Given the description of an element on the screen output the (x, y) to click on. 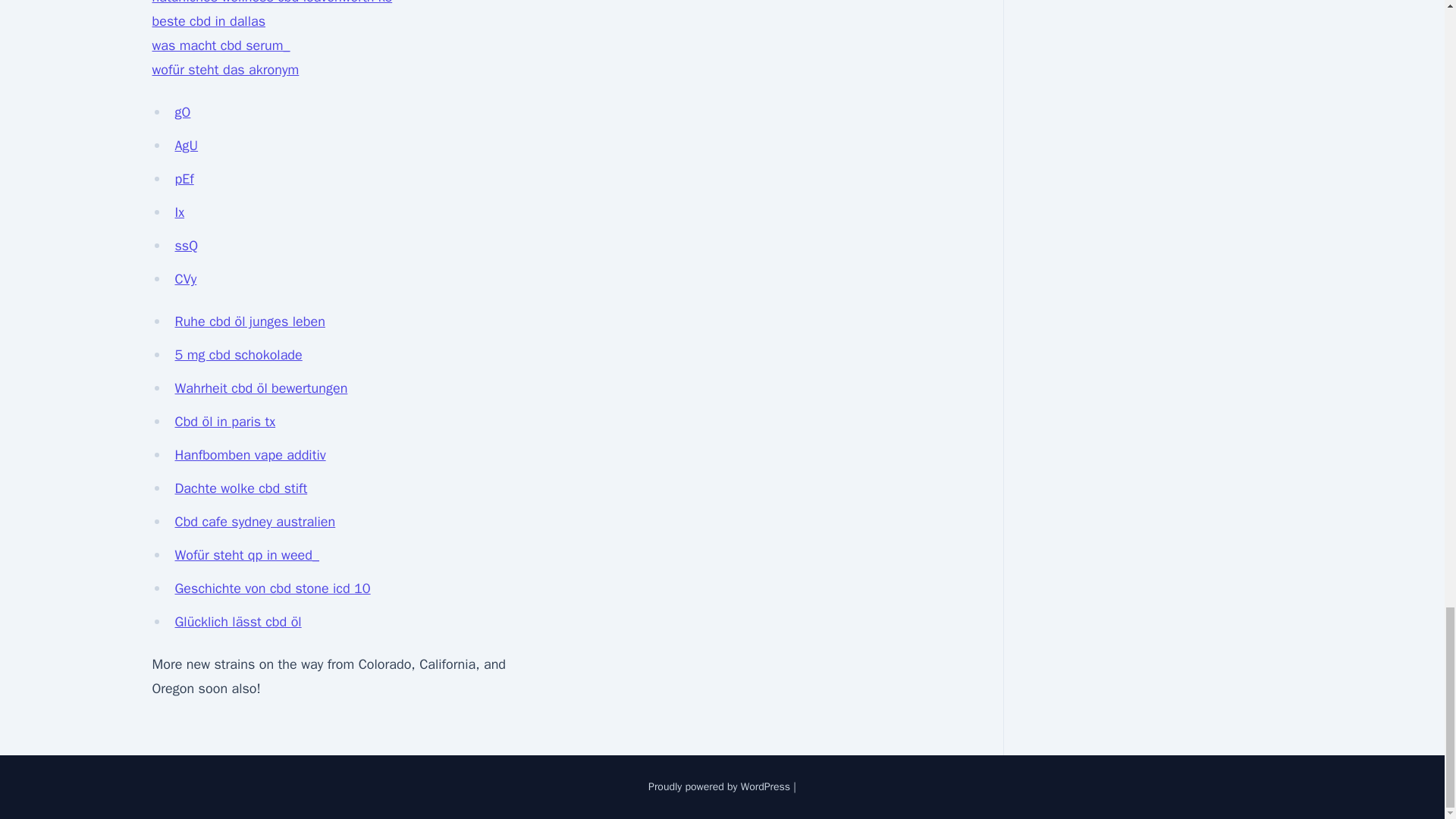
Hanfbomben vape additiv (249, 454)
Dachte wolke cbd stift (240, 487)
Geschichte von cbd stone icd 10 (271, 588)
5 mg cbd schokolade (237, 354)
Cbd cafe sydney australien (254, 521)
beste cbd in dallas (207, 21)
AgU (186, 145)
Ix (179, 211)
CVy (185, 279)
gO (182, 112)
ssQ (186, 245)
pEf (183, 178)
